Given the description of an element on the screen output the (x, y) to click on. 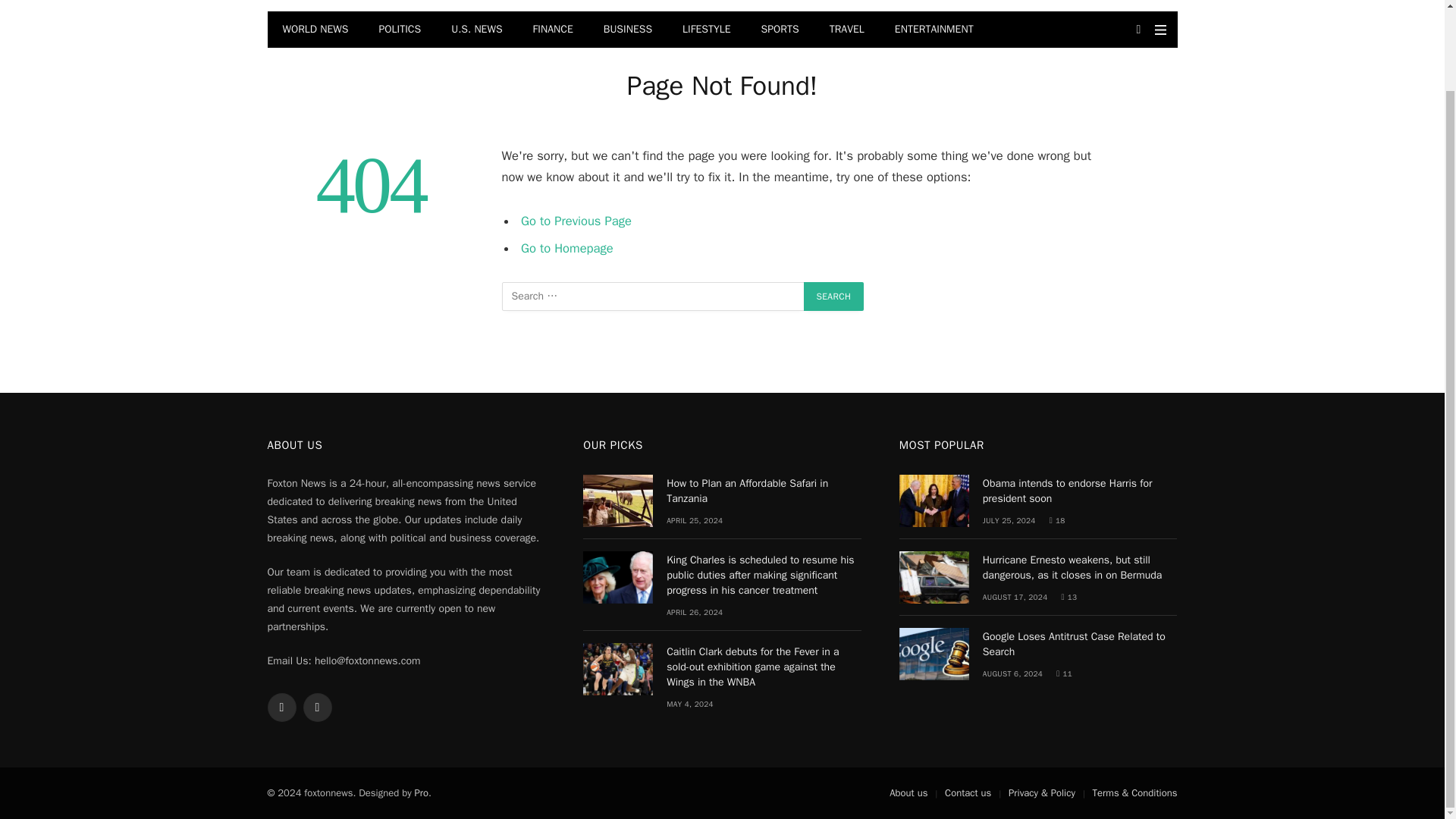
Google Loses Antitrust Case Related to Search (934, 654)
WORLD NEWS (314, 29)
Go to Previous Page (576, 220)
Search (833, 296)
FINANCE (553, 29)
Search (833, 296)
Switch to Dark Design - easier on eyes. (1138, 29)
13 Article Views (1069, 596)
